Given the description of an element on the screen output the (x, y) to click on. 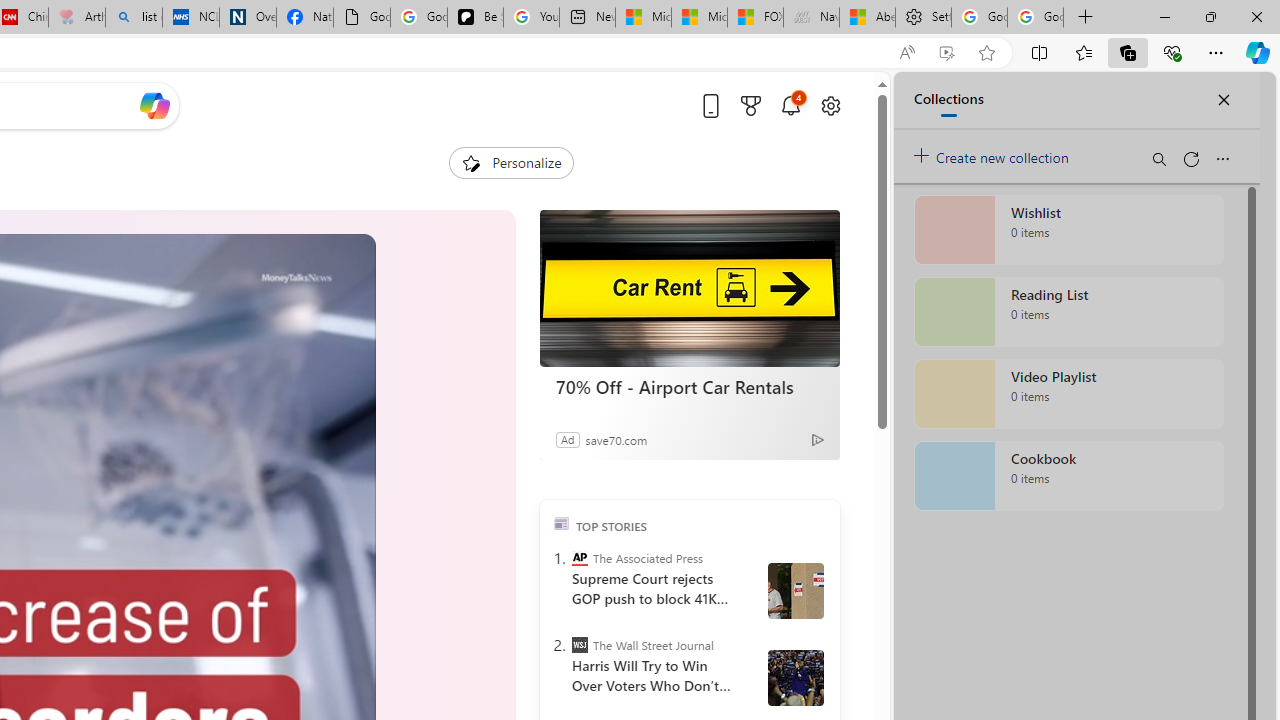
The Associated Press (579, 557)
70% Off - Airport Car Rentals (689, 288)
